Given the description of an element on the screen output the (x, y) to click on. 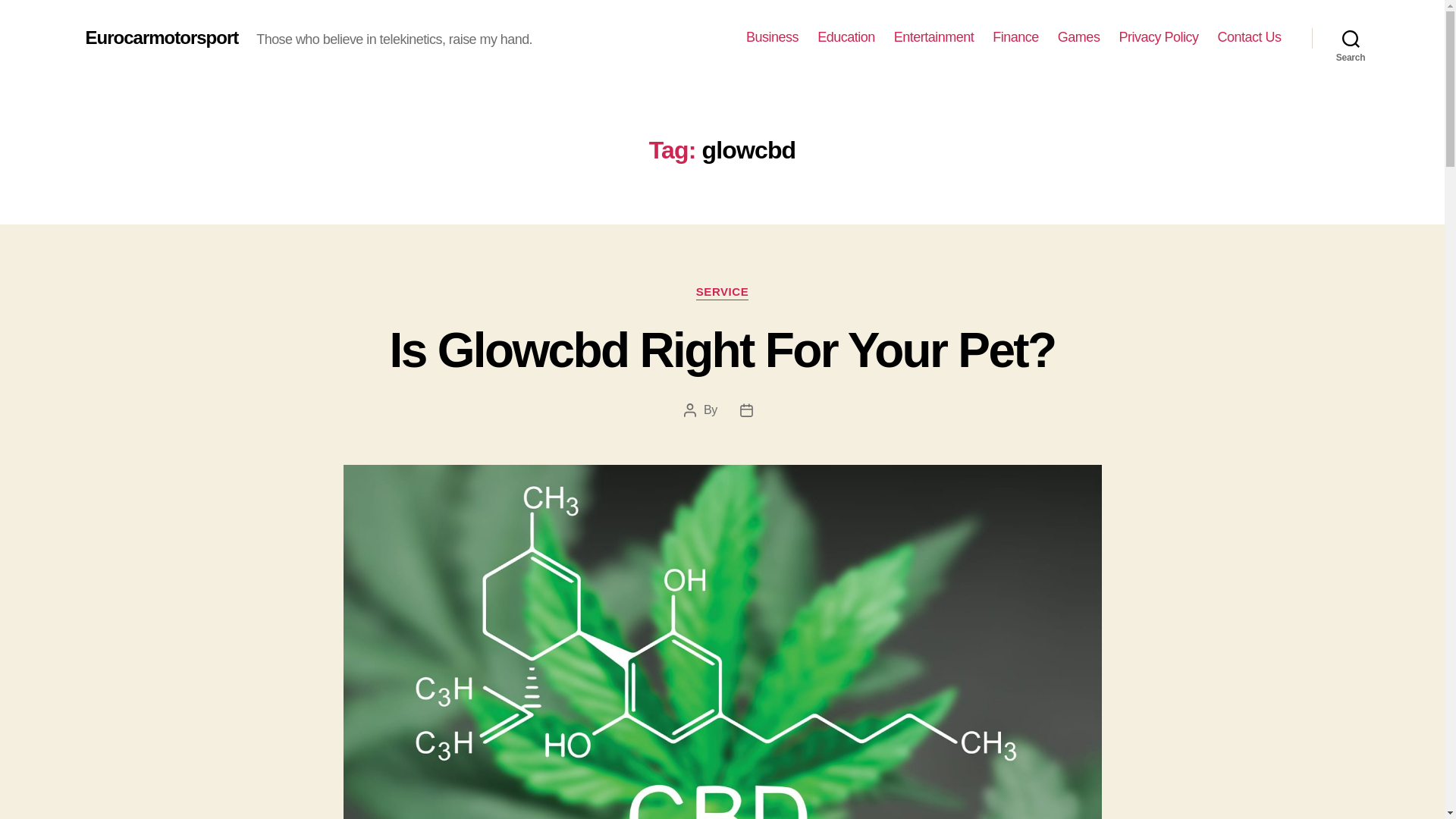
Games (1079, 37)
Is Glowcbd Right For Your Pet? (722, 349)
SERVICE (721, 292)
Search (1350, 37)
Entertainment (933, 37)
Eurocarmotorsport (161, 37)
Education (845, 37)
Business (771, 37)
Privacy Policy (1158, 37)
Finance (1015, 37)
Contact Us (1249, 37)
